Given the description of an element on the screen output the (x, y) to click on. 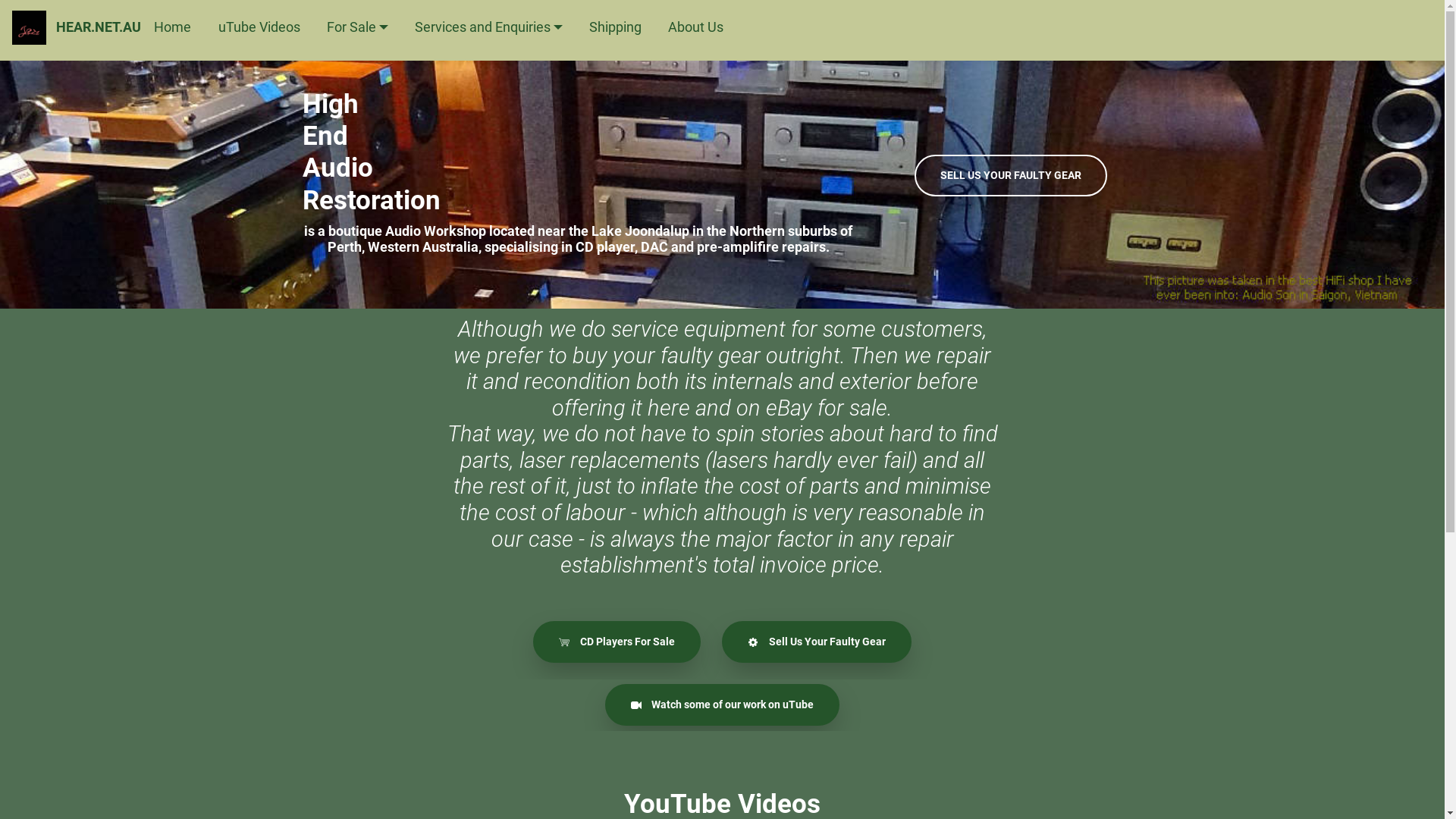
For Sale Element type: text (357, 26)
Sell Us Your Faulty Gear Element type: text (815, 641)
CD Players For Sale Element type: text (616, 641)
Shipping Element type: text (615, 26)
SELL US YOUR FAULTY GEAR Element type: text (1010, 175)
HEAR.NET.AU Element type: text (98, 26)
Watch some of our work on uTube Element type: text (722, 704)
Services and Enquiries Element type: text (488, 26)
About Us Element type: text (695, 26)
uTube Videos Element type: text (259, 26)
Home Element type: text (172, 26)
